Given the description of an element on the screen output the (x, y) to click on. 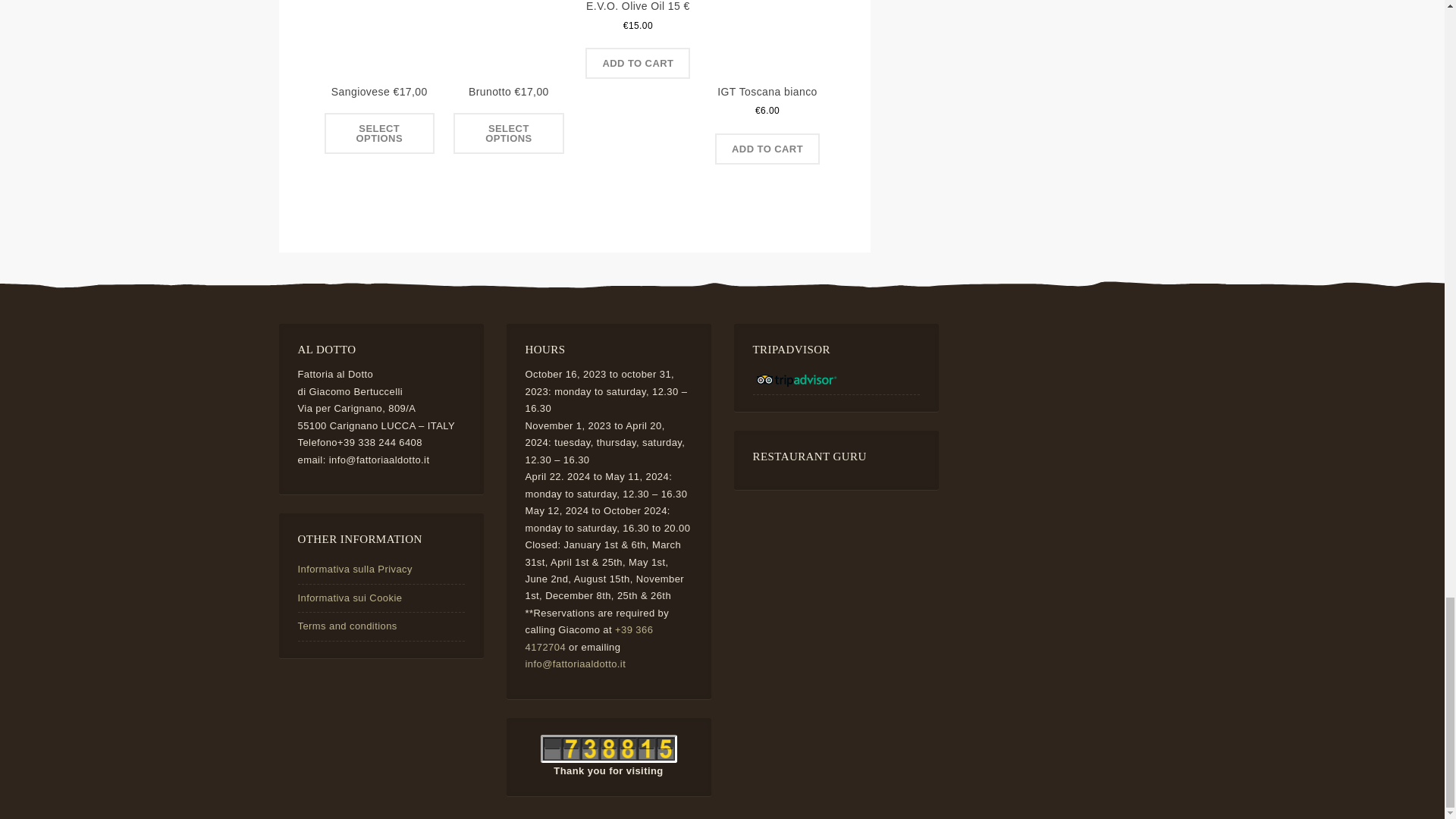
ADD TO CART (637, 62)
ADD TO CART (766, 148)
SELECT OPTIONS (379, 133)
Terms and conditions (346, 625)
Informativa sui Cookie (349, 597)
Informativa sulla Privacy (354, 568)
SELECT OPTIONS (508, 133)
